Given the description of an element on the screen output the (x, y) to click on. 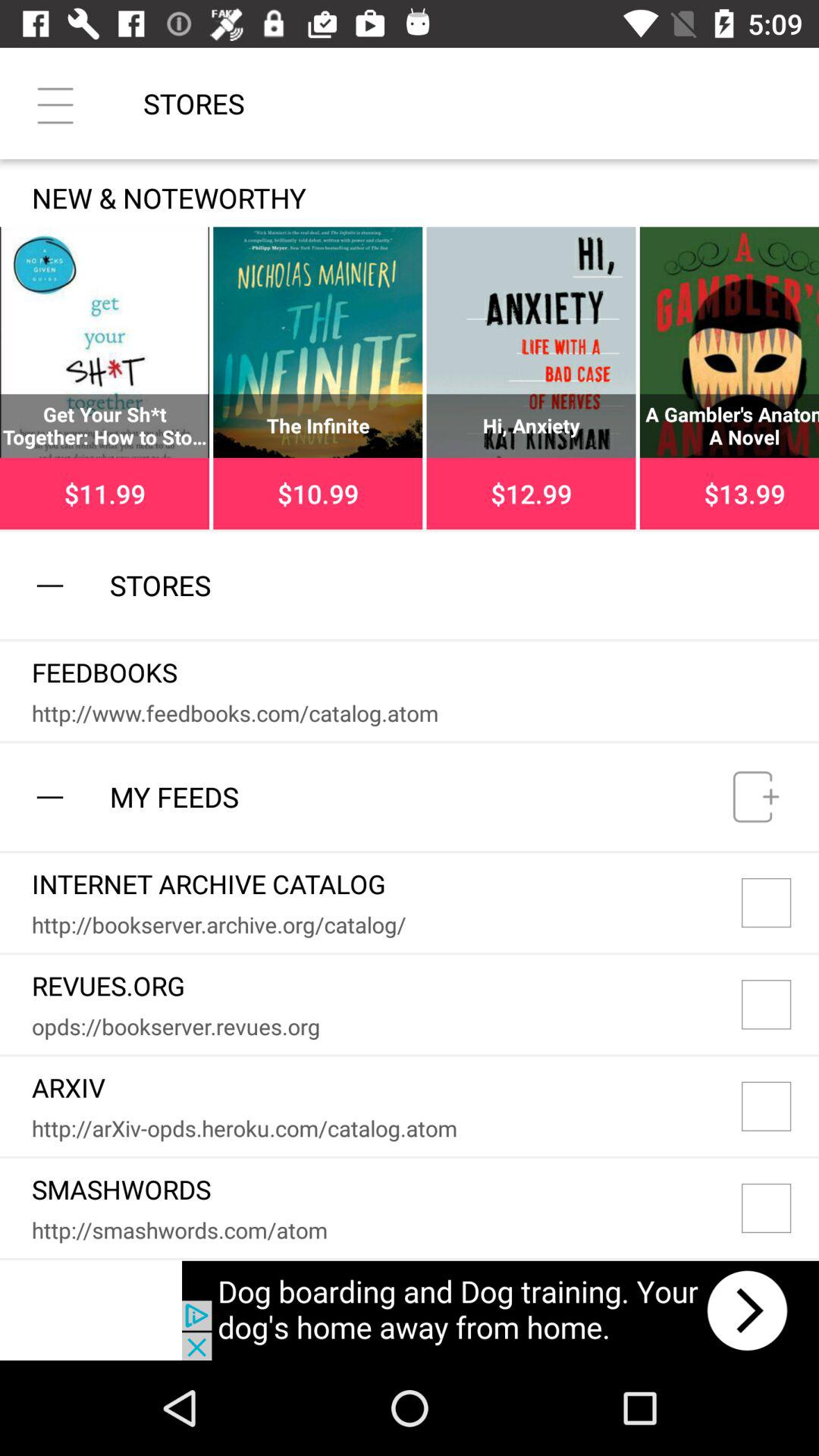
select arxiv (780, 1106)
